Given the description of an element on the screen output the (x, y) to click on. 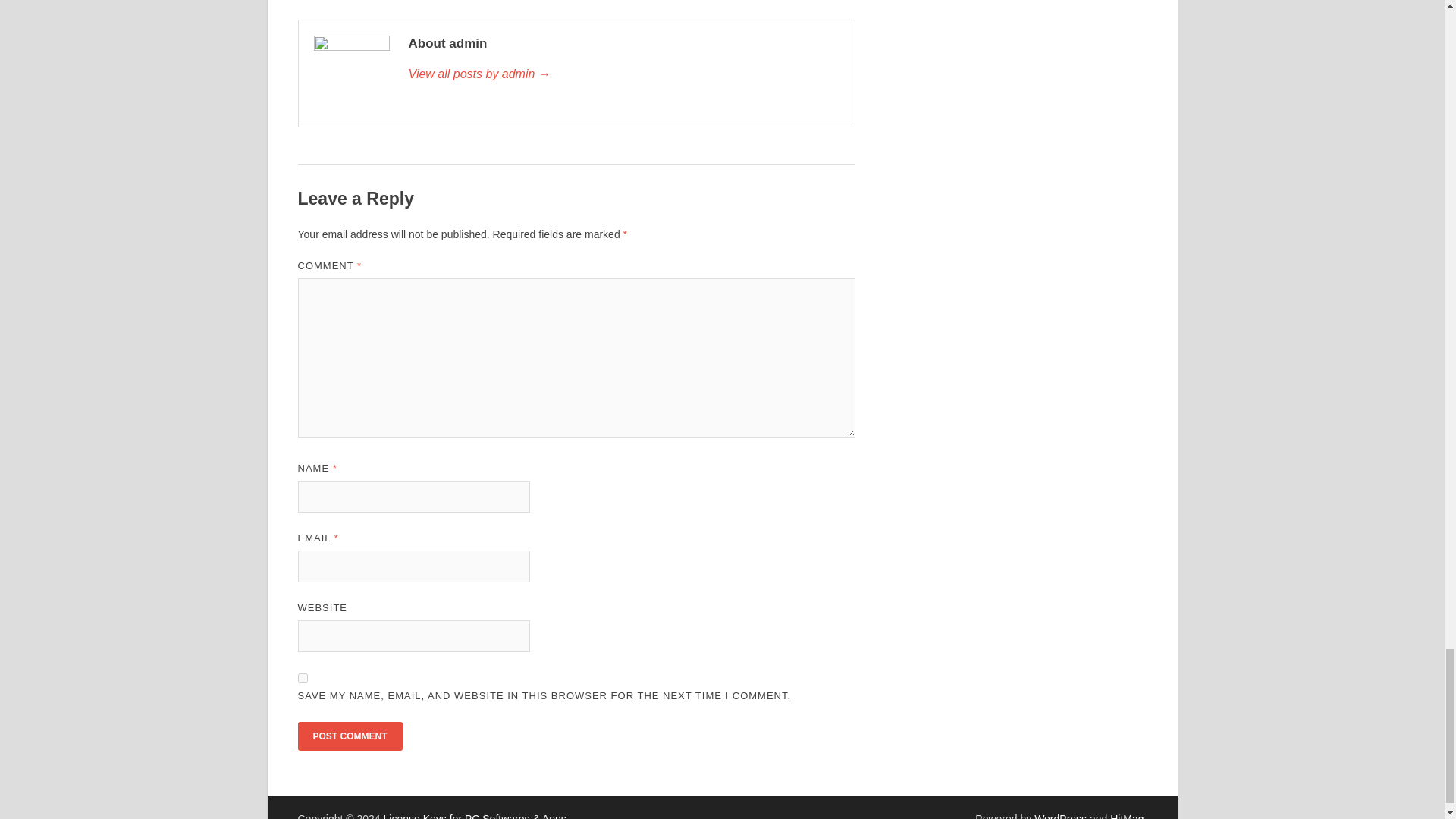
admin (622, 74)
Post Comment (349, 736)
yes (302, 678)
Post Comment (349, 736)
